Given the description of an element on the screen output the (x, y) to click on. 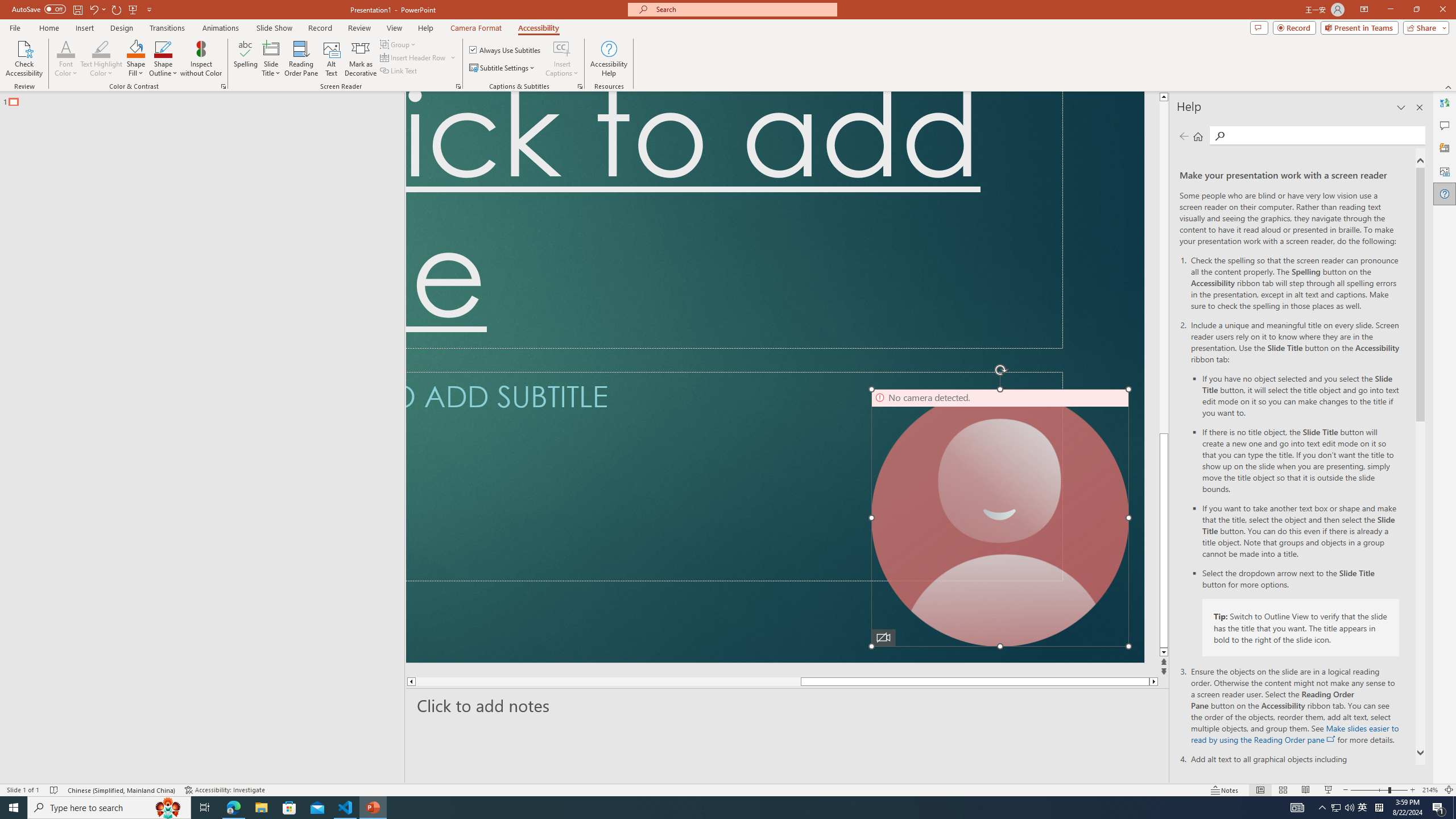
Accessibility Help (608, 58)
openinnewwindow (1330, 739)
Zoom to Fit  (1449, 790)
Shape Fill Orange, Accent 2 (135, 48)
Inspect without Color (201, 58)
Slide Show (273, 28)
Spelling... (245, 58)
Outline (207, 99)
Class: MsoCommandBar (728, 789)
Accessibility Checker Accessibility: Investigate (226, 790)
Reading View (1305, 790)
Slide Title (271, 58)
Page down (1165, 517)
